Given the description of an element on the screen output the (x, y) to click on. 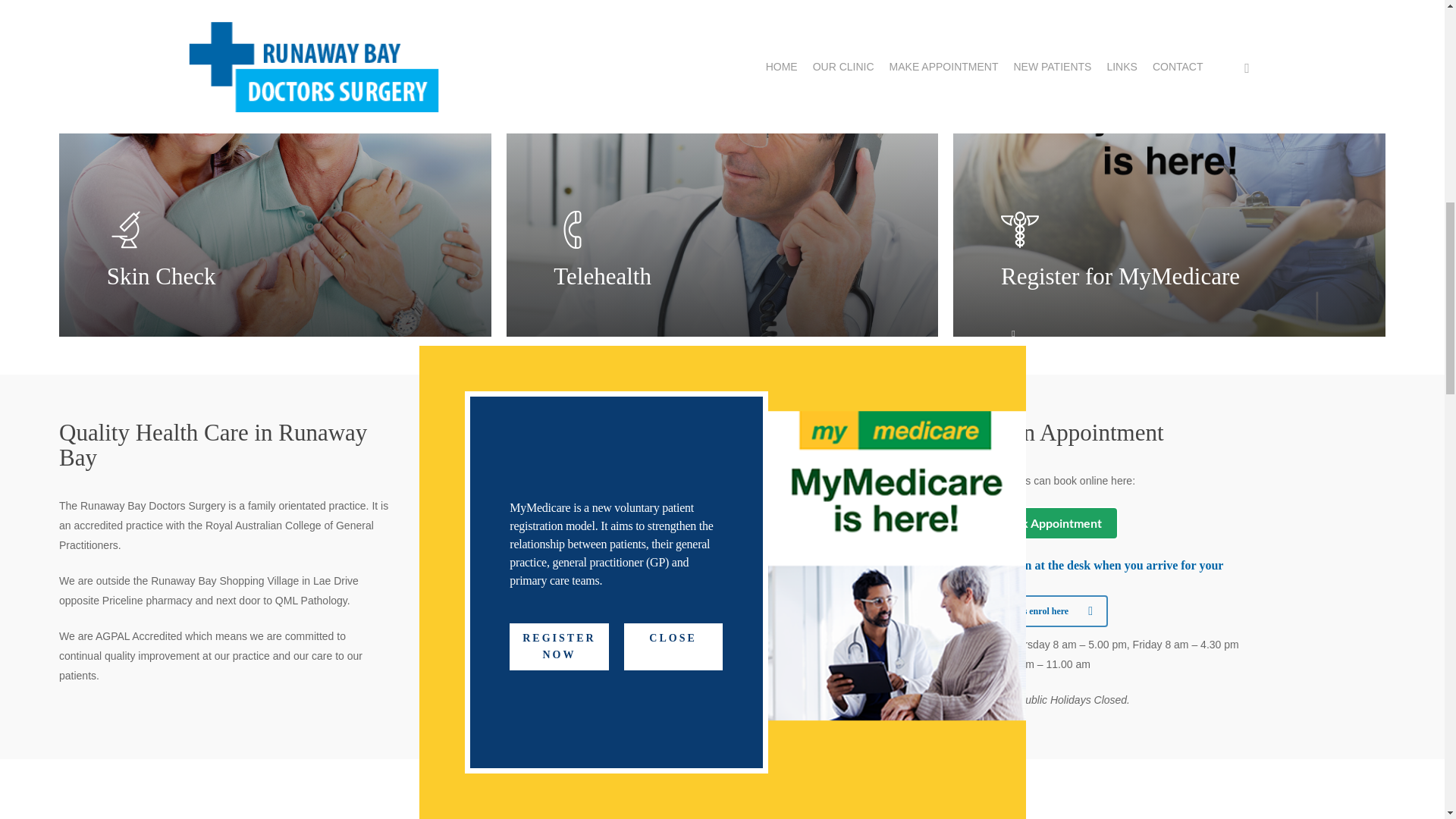
New Patients enrol here (1030, 611)
Book Appointment (1035, 522)
